Given the description of an element on the screen output the (x, y) to click on. 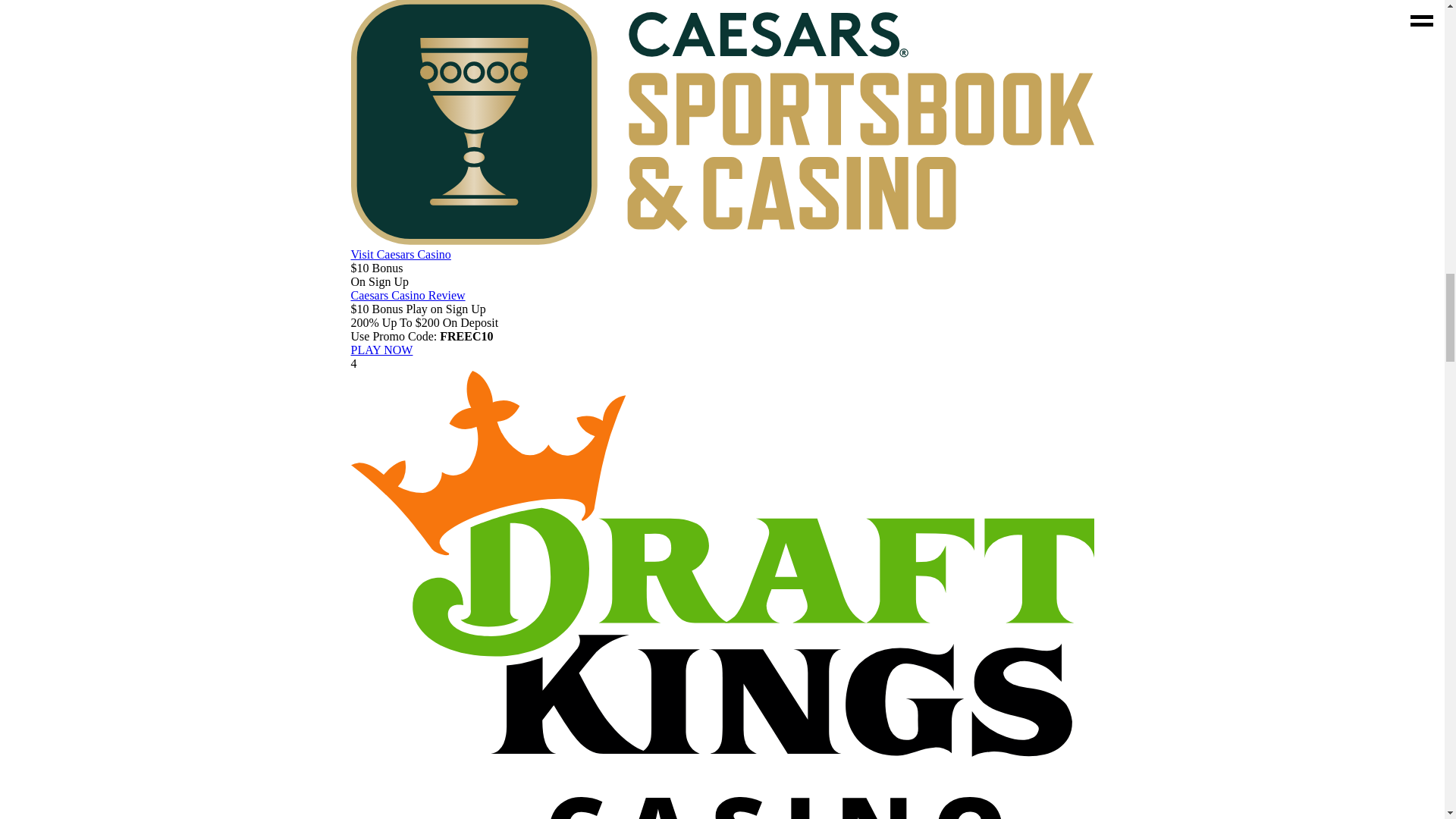
Caesars Casino (381, 349)
Caesars Casino (721, 261)
Caesars Casino (721, 240)
